Given the description of an element on the screen output the (x, y) to click on. 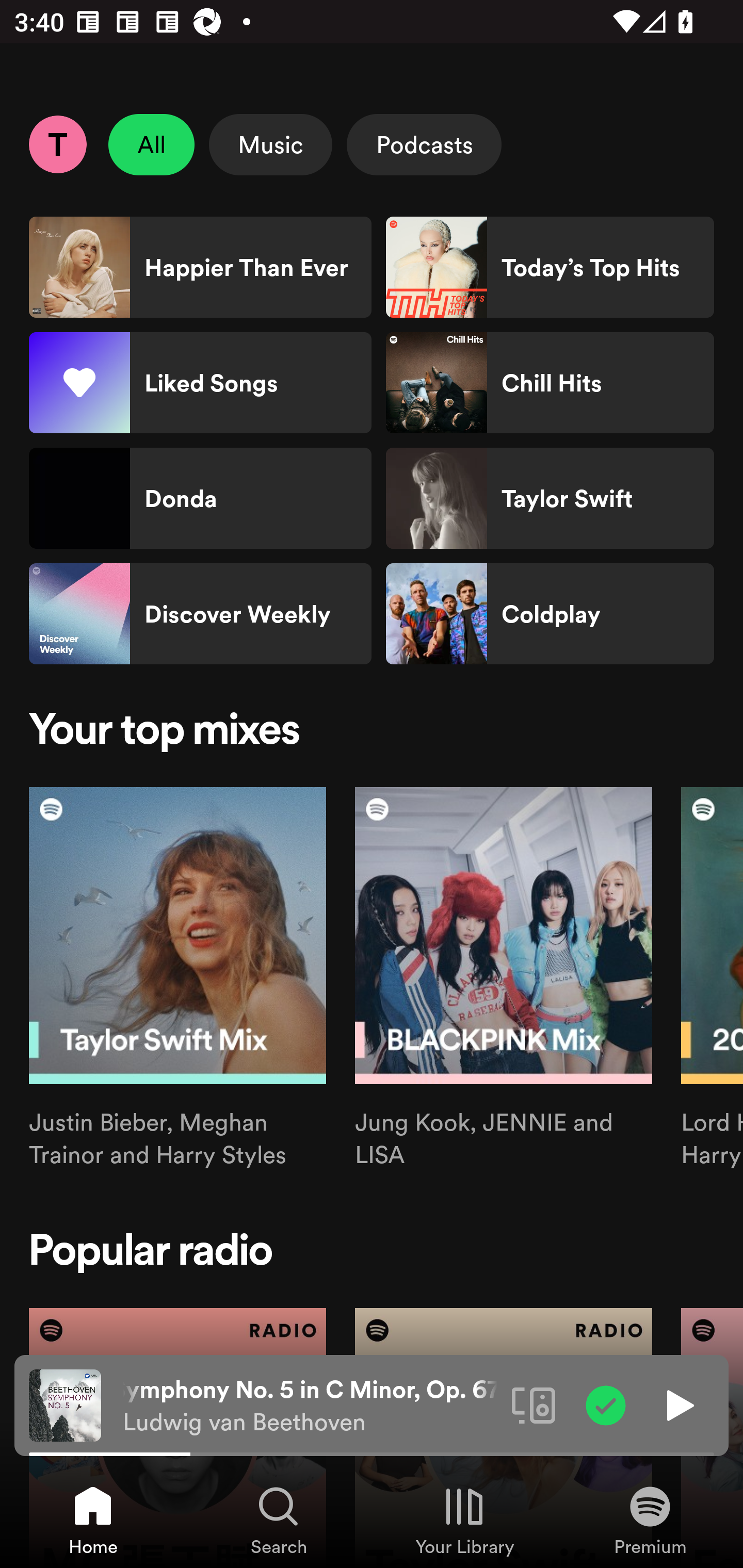
Profile (57, 144)
All Unselect All (151, 144)
Music Select Music (270, 144)
Podcasts Select Podcasts (423, 144)
Happier Than Ever Shortcut Happier Than Ever (199, 267)
Today’s Top Hits Shortcut Today’s Top Hits (549, 267)
Liked Songs Shortcut Liked Songs (199, 382)
Chill Hits Shortcut Chill Hits (549, 382)
Donda Shortcut Donda (199, 498)
Taylor Swift Shortcut Taylor Swift (549, 498)
Discover Weekly Shortcut Discover Weekly (199, 613)
Coldplay Shortcut Coldplay (549, 613)
The cover art of the currently playing track (64, 1404)
Connect to a device. Opens the devices menu (533, 1404)
Item added (605, 1404)
Play (677, 1404)
Home, Tab 1 of 4 Home Home (92, 1519)
Search, Tab 2 of 4 Search Search (278, 1519)
Your Library, Tab 3 of 4 Your Library Your Library (464, 1519)
Premium, Tab 4 of 4 Premium Premium (650, 1519)
